Given the description of an element on the screen output the (x, y) to click on. 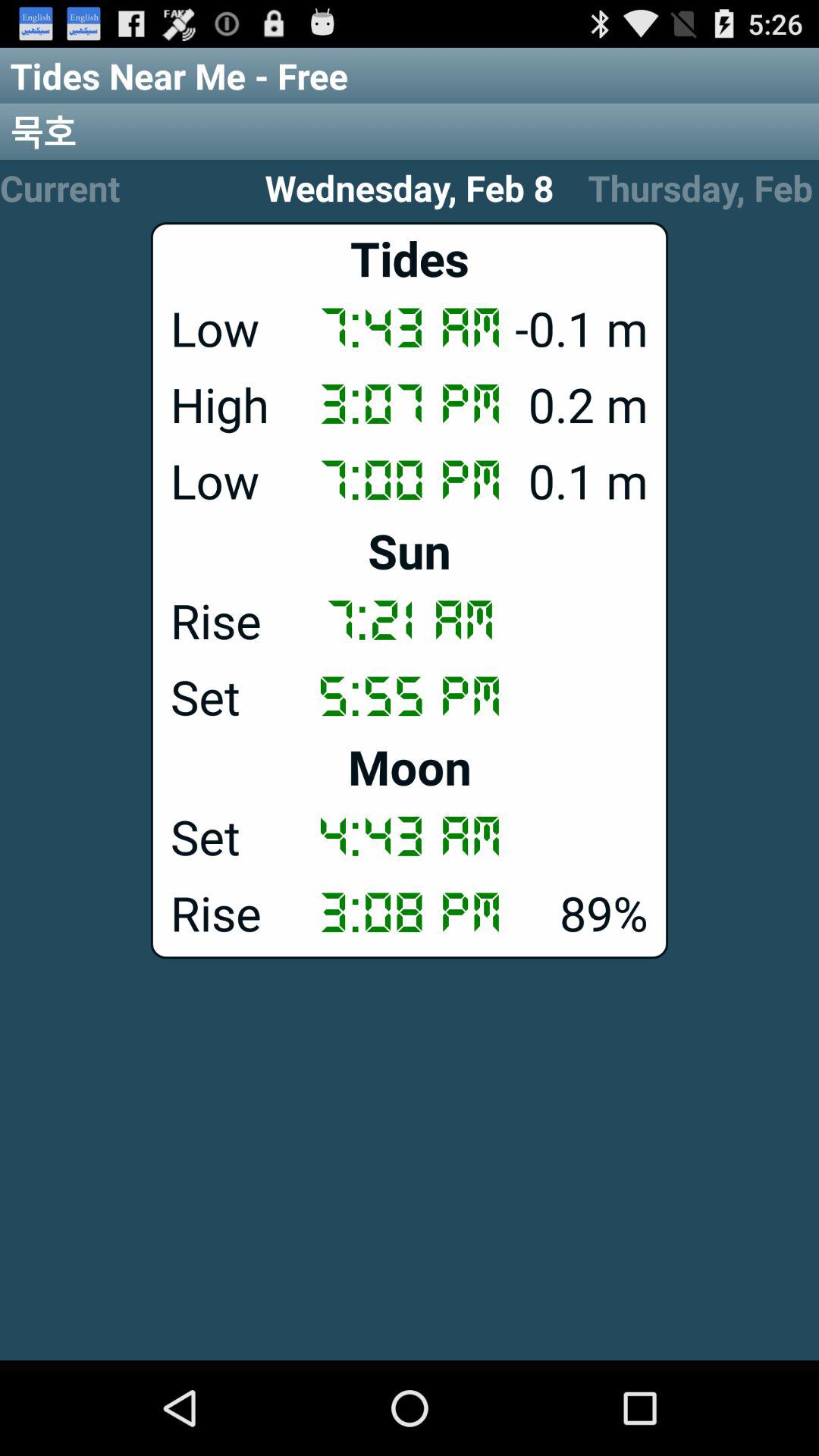
click item above the moon icon (409, 695)
